Given the description of an element on the screen output the (x, y) to click on. 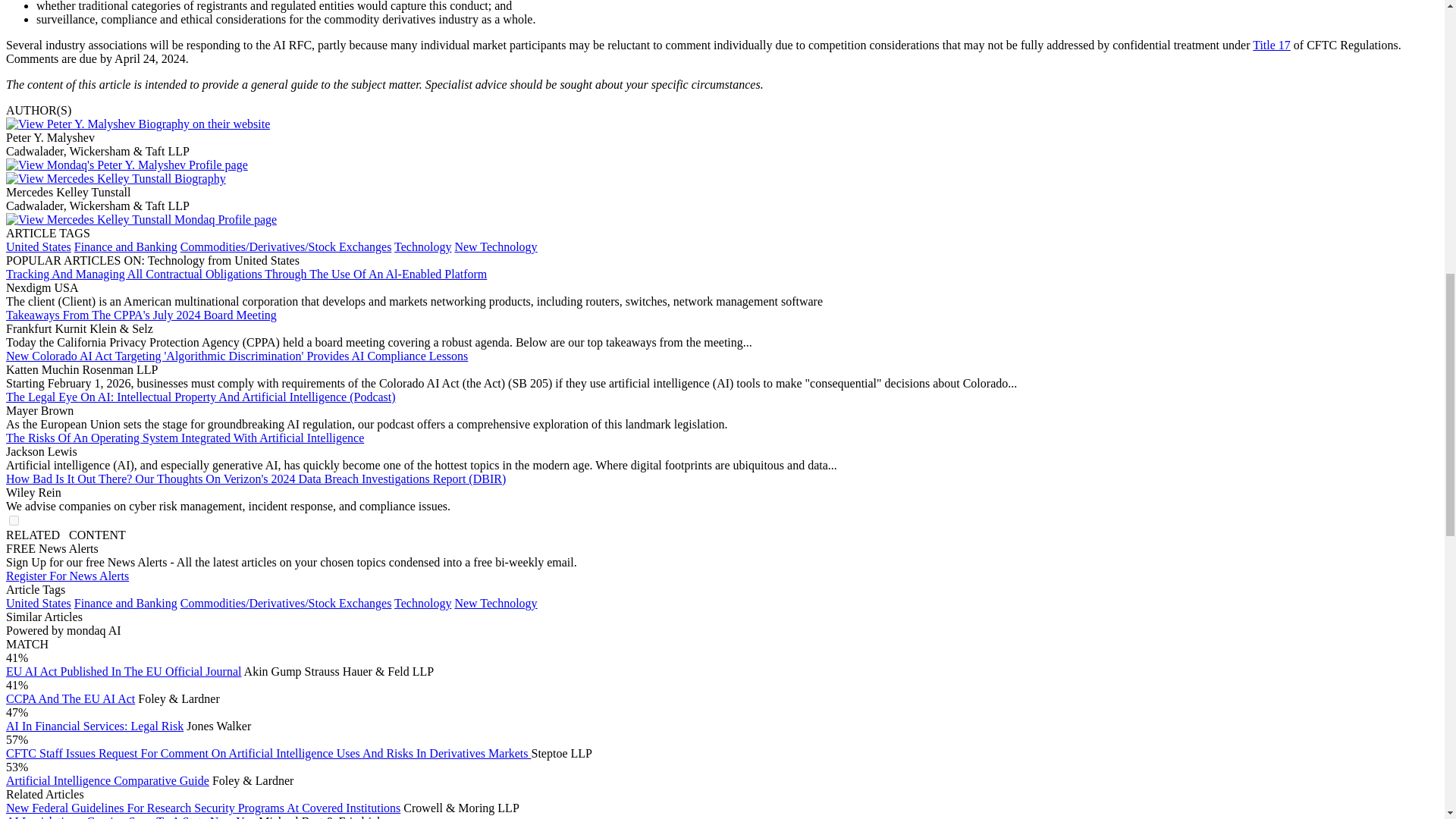
View this authors biography on their website (115, 178)
Title 17 (1271, 44)
on (13, 520)
Page tools slideout (65, 534)
More from Peter Y.  Malyshev (126, 164)
More from Mercedes Kelley  Tunstall (140, 219)
View this authors biography on their website (137, 123)
